Given the description of an element on the screen output the (x, y) to click on. 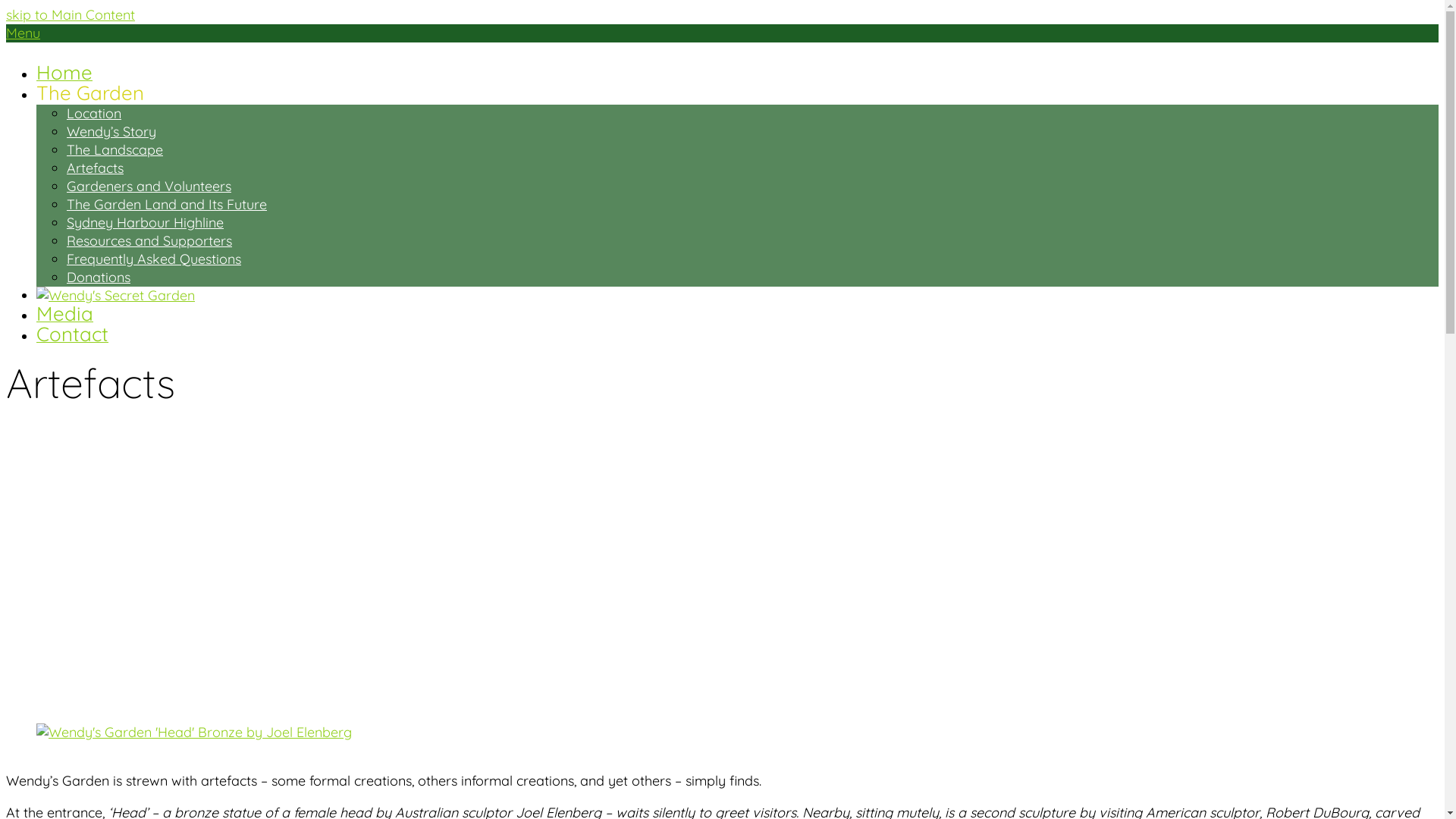
Contact Element type: text (72, 336)
Frequently Asked Questions Element type: text (153, 258)
Menu Element type: text (23, 32)
Sydney Harbour Highline Element type: text (144, 222)
Media Element type: text (64, 315)
skip to Main Content Element type: text (70, 14)
Home Element type: text (64, 74)
Wendy's Garden 'Head' Bronze by Joel Elenberg Element type: hover (193, 732)
The Garden Element type: text (90, 94)
Resources and Supporters Element type: text (149, 240)
The Garden Land and Its Future Element type: text (166, 204)
Location Element type: text (93, 113)
Donations Element type: text (98, 276)
The Landscape Element type: text (114, 149)
Gardeners and Volunteers Element type: text (148, 185)
Artefacts Element type: text (94, 167)
